Given the description of an element on the screen output the (x, y) to click on. 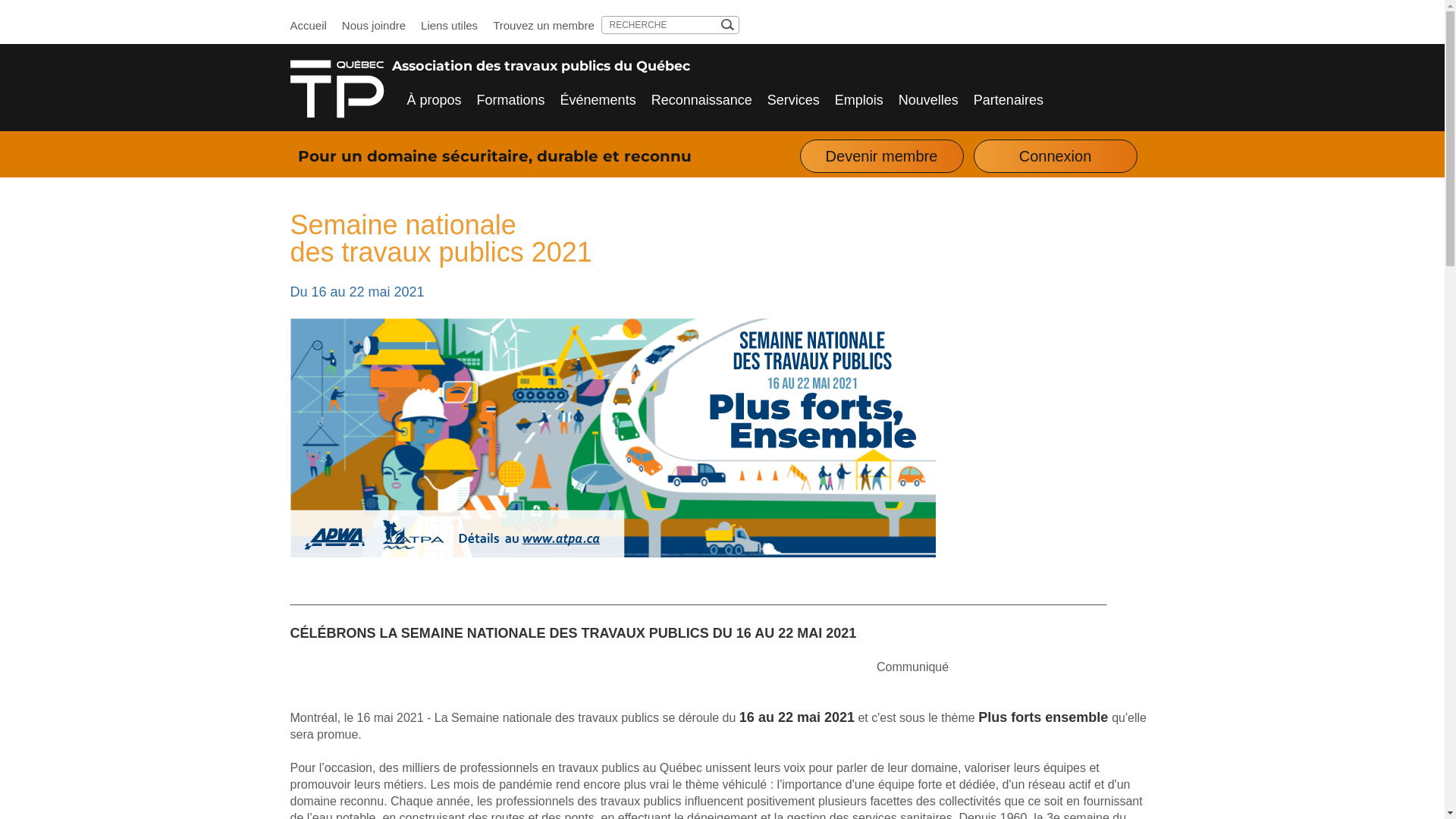
Connexion Element type: text (1055, 155)
Accueil Element type: text (307, 25)
Reconnaissance Element type: text (701, 99)
Devenir membre Element type: text (881, 155)
Services Element type: text (793, 99)
Recherche du site Element type: hover (725, 24)
Trouvez un membre Element type: text (543, 25)
Partenaires Element type: text (1008, 99)
query2 Element type: text (725, 24)
Emplois Element type: text (858, 99)
Formations Element type: text (510, 99)
Nous joindre Element type: text (373, 25)
Liens utiles Element type: text (448, 25)
Nouvelles Element type: text (928, 99)
Recherche du site Element type: hover (660, 24)
